Given the description of an element on the screen output the (x, y) to click on. 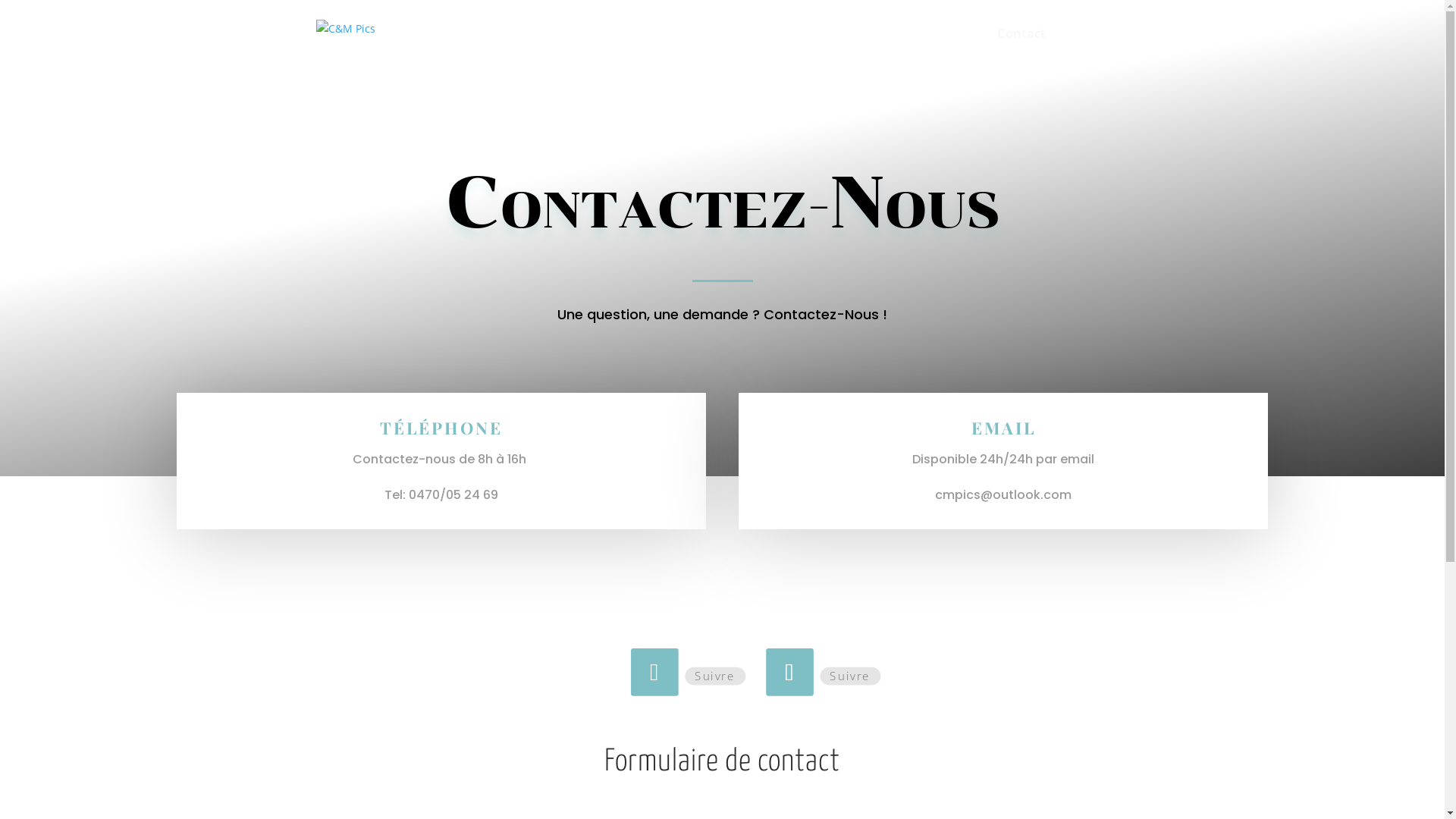
Contact Element type: text (1020, 47)
Connexion Element type: text (1097, 47)
Suivre Element type: text (847, 675)
Suivre Element type: text (712, 675)
Suivez sur Facebook Element type: hover (652, 670)
Accueil Element type: text (881, 47)
Suivez sur Instagram Element type: hover (787, 670)
Portfolio Element type: text (949, 47)
